Given the description of an element on the screen output the (x, y) to click on. 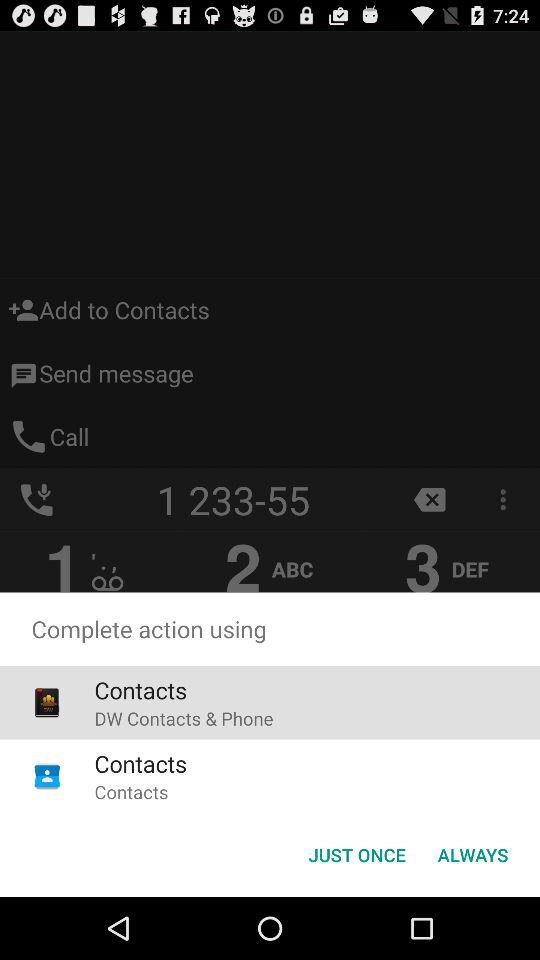
turn on the item above the contacts (183, 718)
